Given the description of an element on the screen output the (x, y) to click on. 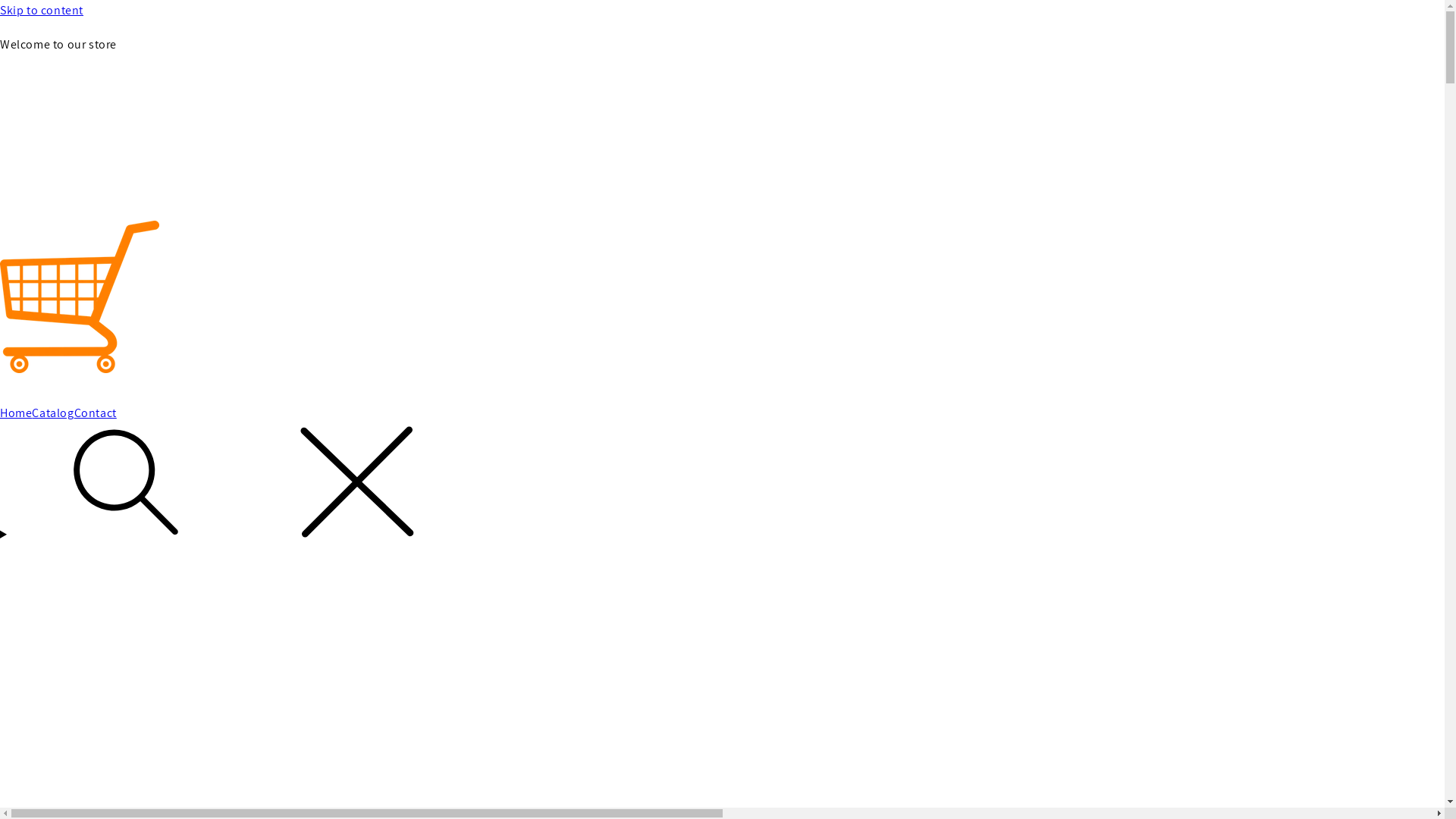
Home Element type: text (15, 413)
Skip to content Element type: text (722, 10)
Contact Element type: text (95, 413)
Catalog Element type: text (52, 413)
